Given the description of an element on the screen output the (x, y) to click on. 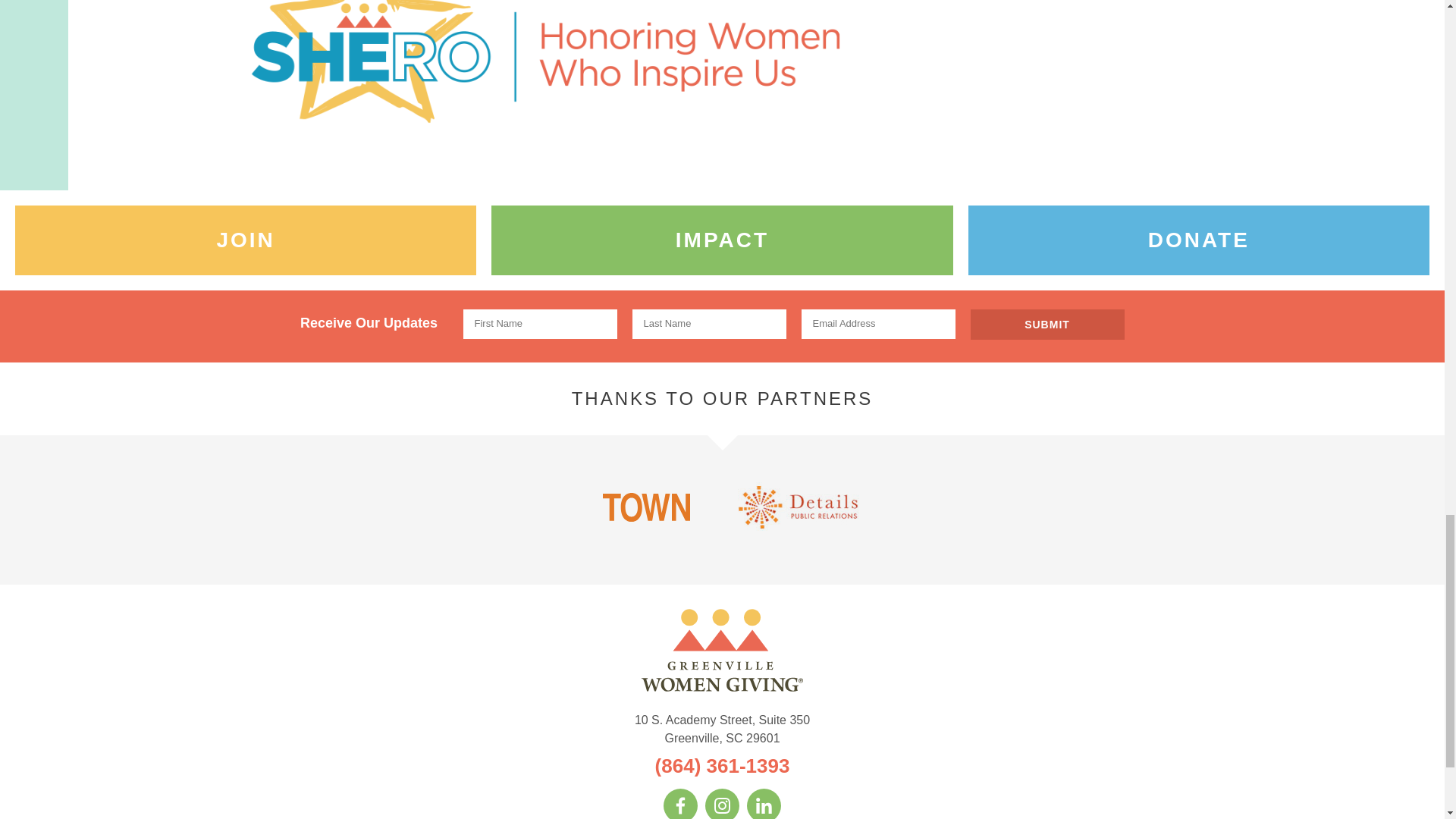
IMPACT (722, 240)
Submit (1047, 324)
JOIN (245, 240)
